Given the description of an element on the screen output the (x, y) to click on. 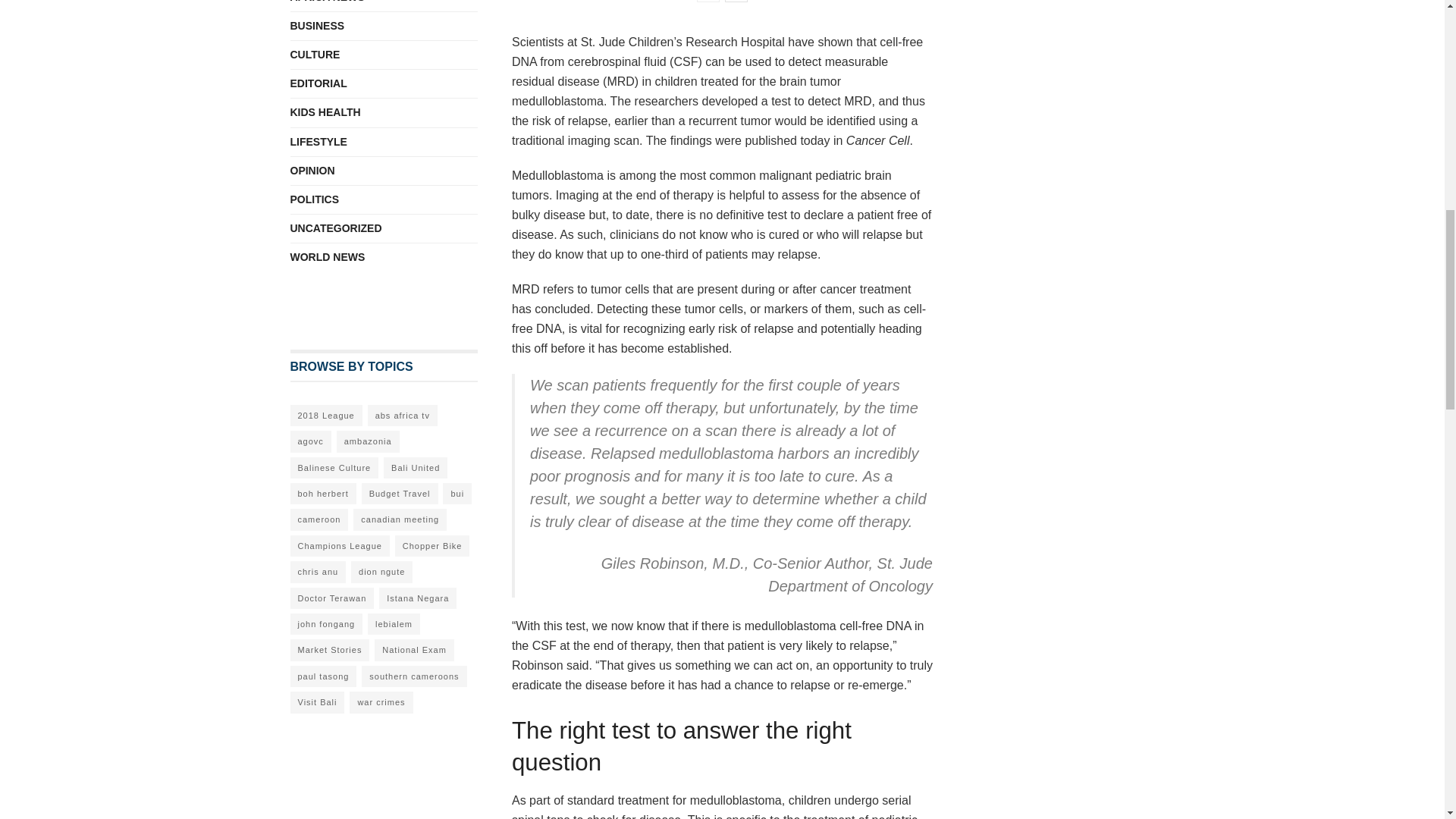
Previous (708, 1)
Next (736, 1)
